Given the description of an element on the screen output the (x, y) to click on. 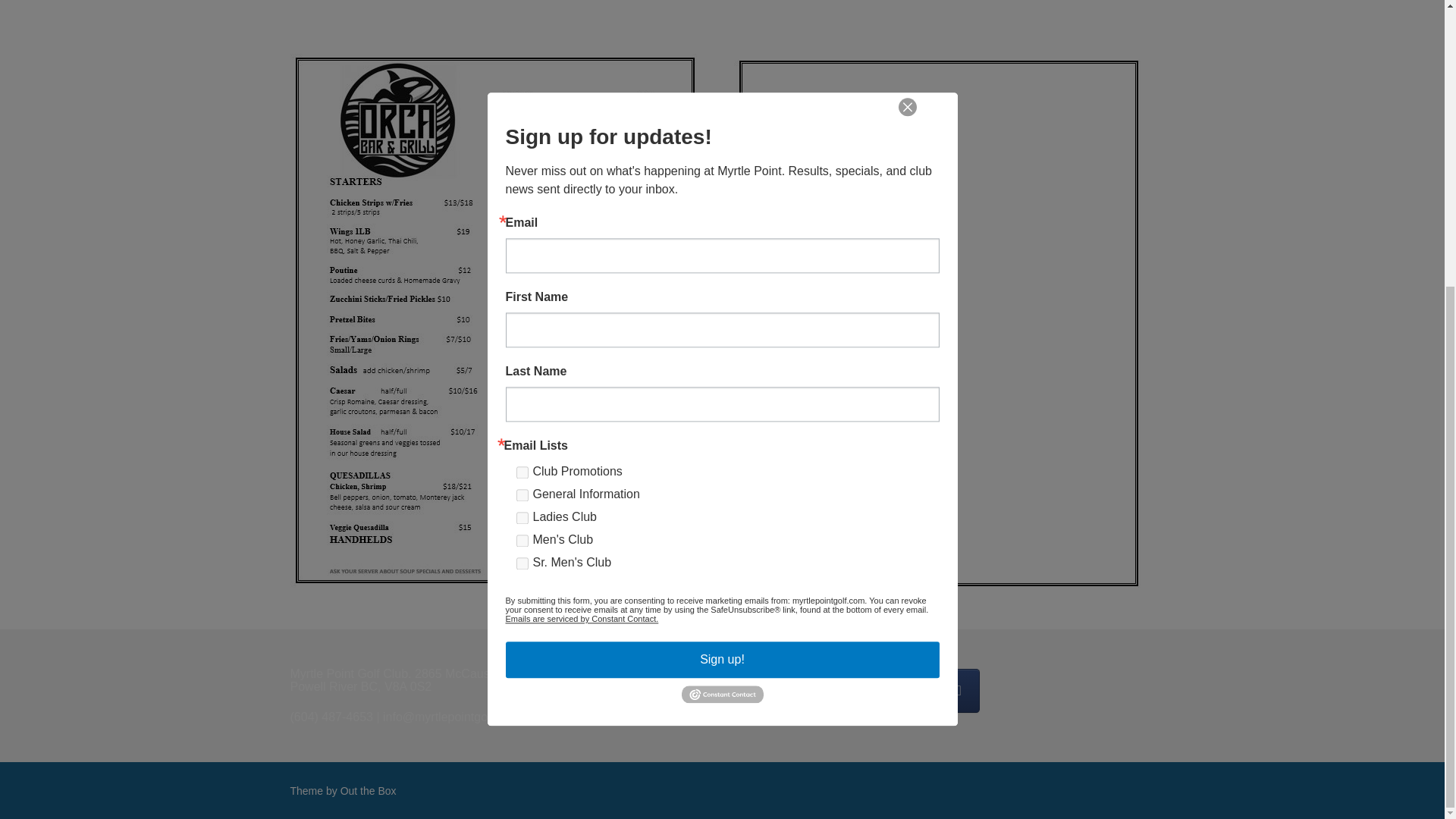
43cf316e-e0bd-11ee-af64-fa163e911793 (521, 131)
 on Instagram (912, 690)
75ecd384-e00b-11ee-8e64-fa163eb2ef2e (521, 108)
6fa0a476-e0bd-11ee-9836-fa163ee2c965 (521, 62)
86147686-e00b-11ee-9f97-fa163ee2c965 (521, 39)
 on Facebook (958, 690)
Out the Box (368, 790)
7dee2024-e00b-11ee-8e64-fa163eb2ef2e (521, 85)
Emails are serviced by Constant Contact. (581, 185)
